Given the description of an element on the screen output the (x, y) to click on. 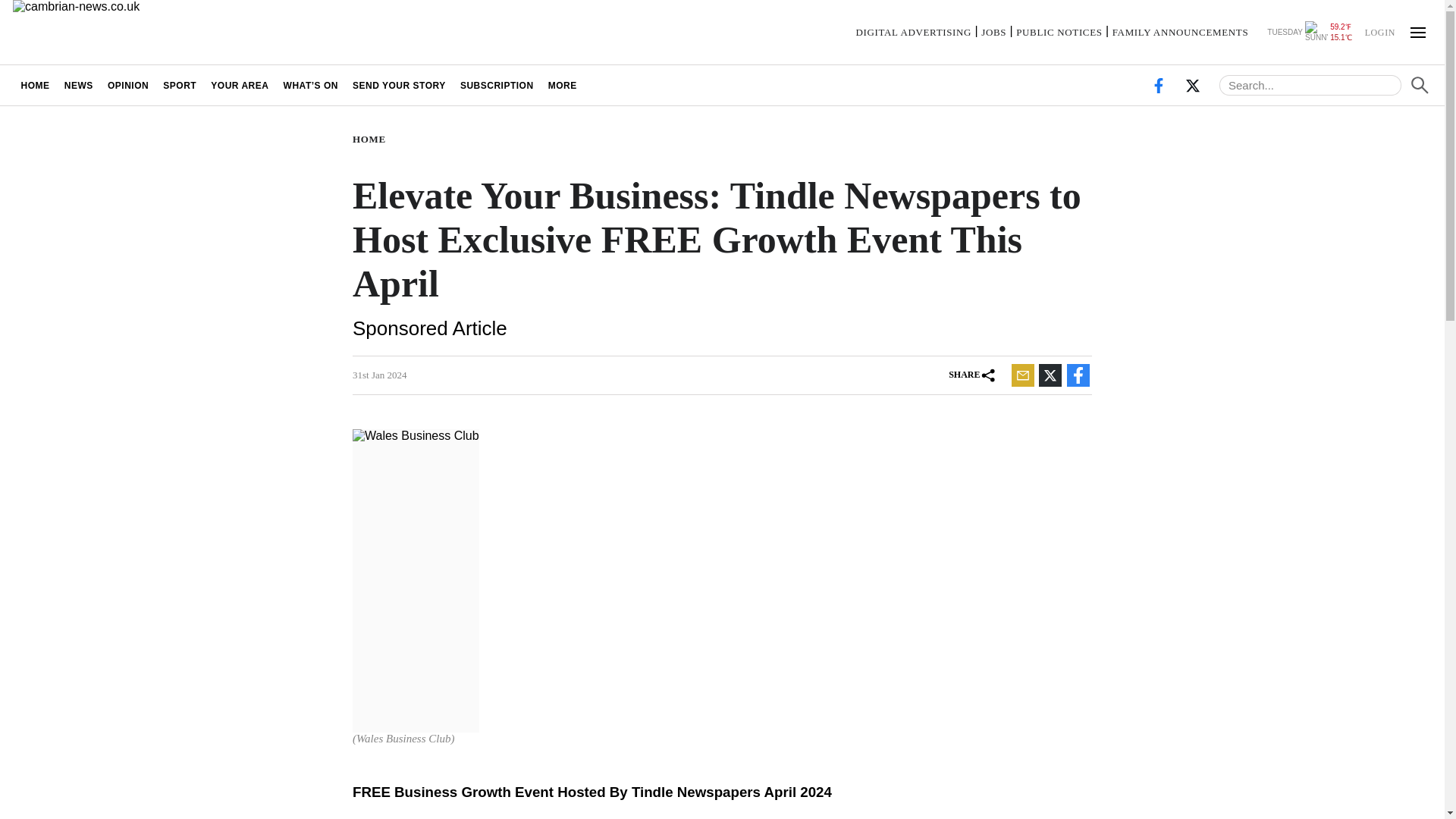
MORE (561, 85)
SEND YOUR STORY (398, 85)
SUBSCRIPTION (496, 85)
HOME (371, 138)
FAMILY ANNOUNCEMENTS (1180, 32)
YOUR AREA (239, 85)
SPORT (179, 85)
LOGIN (1379, 31)
OPINION (127, 85)
NEWS (78, 85)
